Given the description of an element on the screen output the (x, y) to click on. 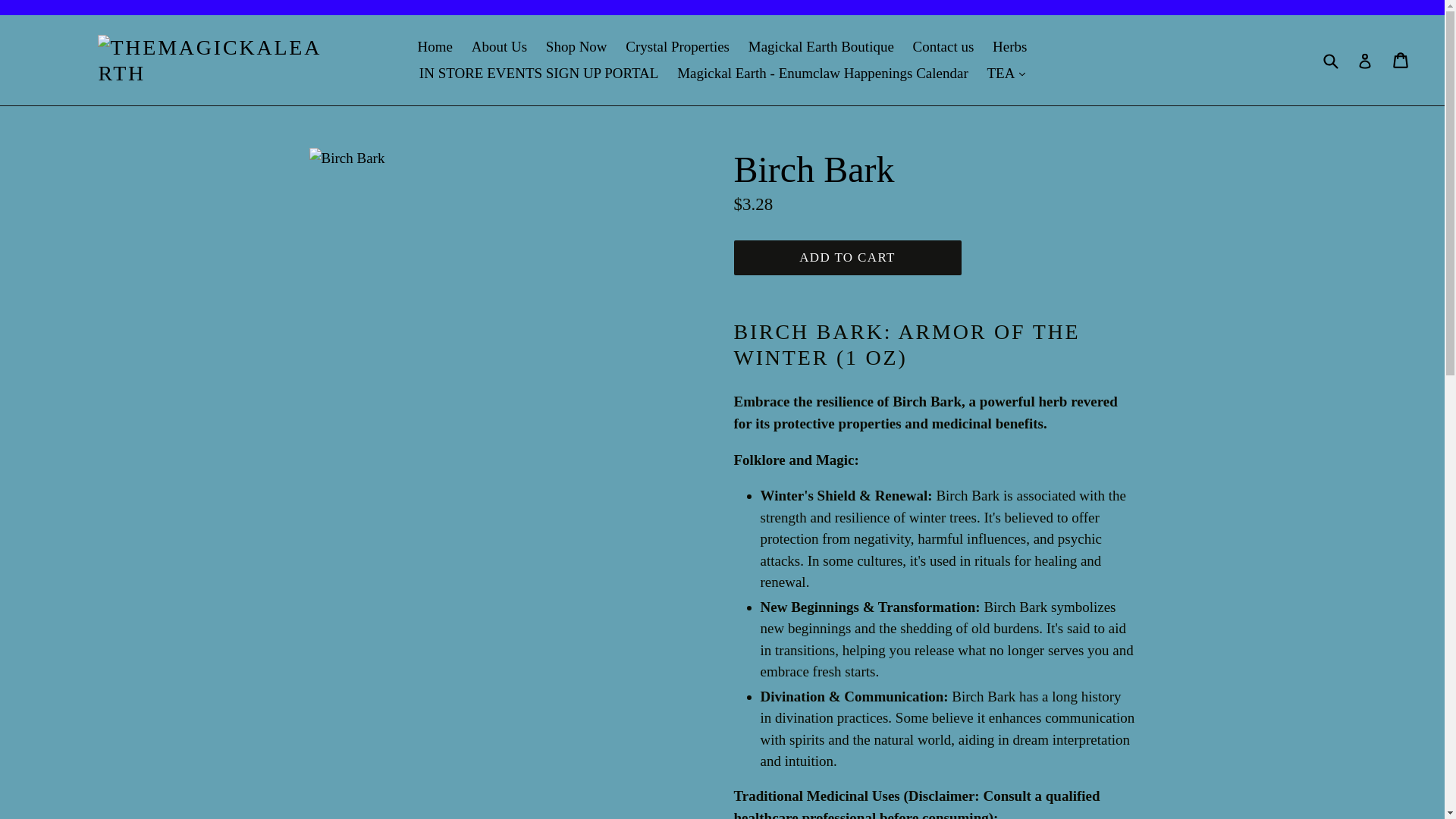
Shop Now (576, 47)
Magickal Earth Boutique (821, 47)
ADD TO CART (846, 257)
Home (435, 47)
Magickal Earth - Enumclaw Happenings Calendar (822, 73)
Herbs (1009, 47)
IN STORE EVENTS SIGN UP PORTAL (539, 73)
About Us (499, 47)
Crystal Properties (676, 47)
Contact us (943, 47)
